Given the description of an element on the screen output the (x, y) to click on. 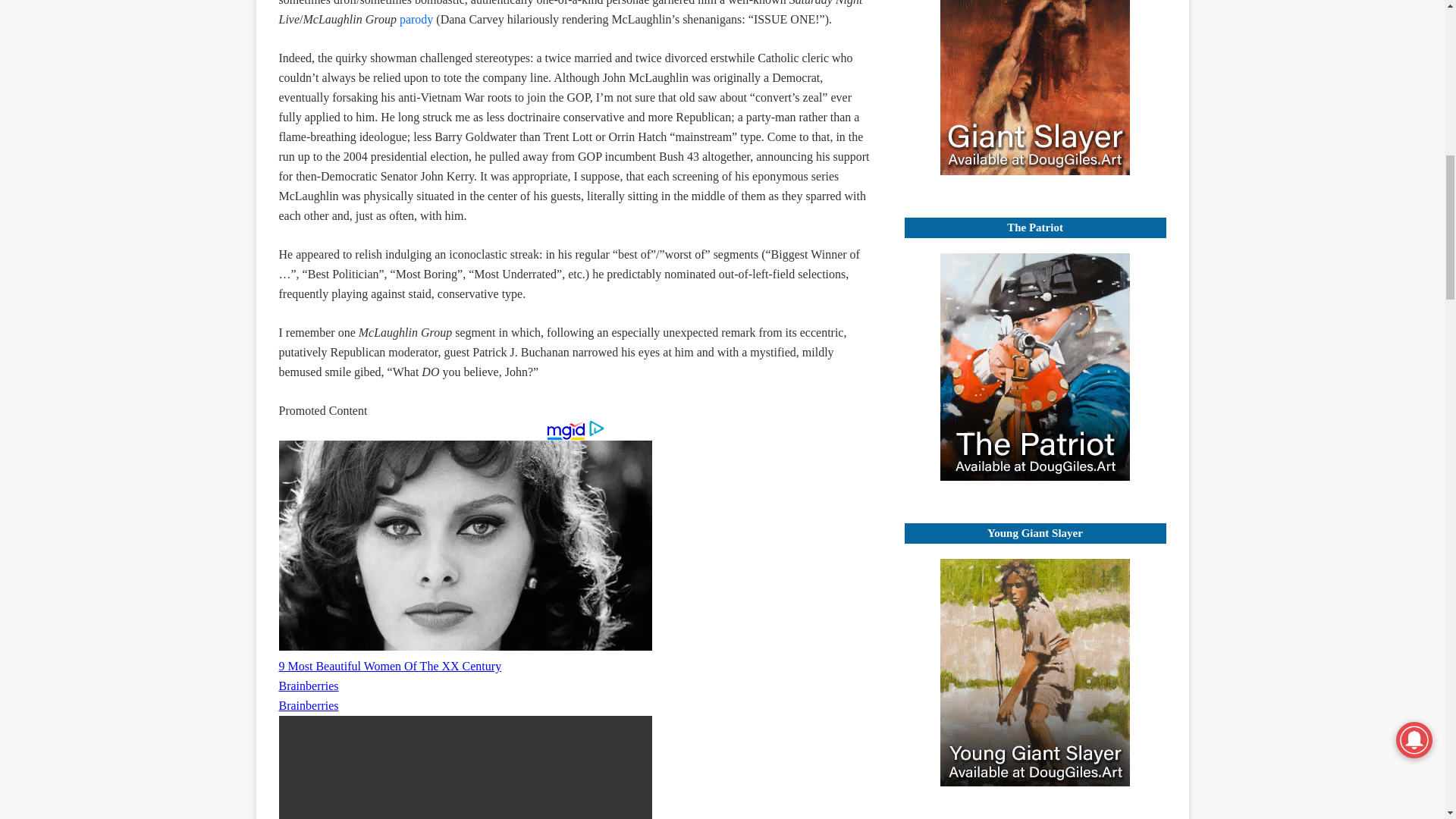
parody (415, 19)
